Given the description of an element on the screen output the (x, y) to click on. 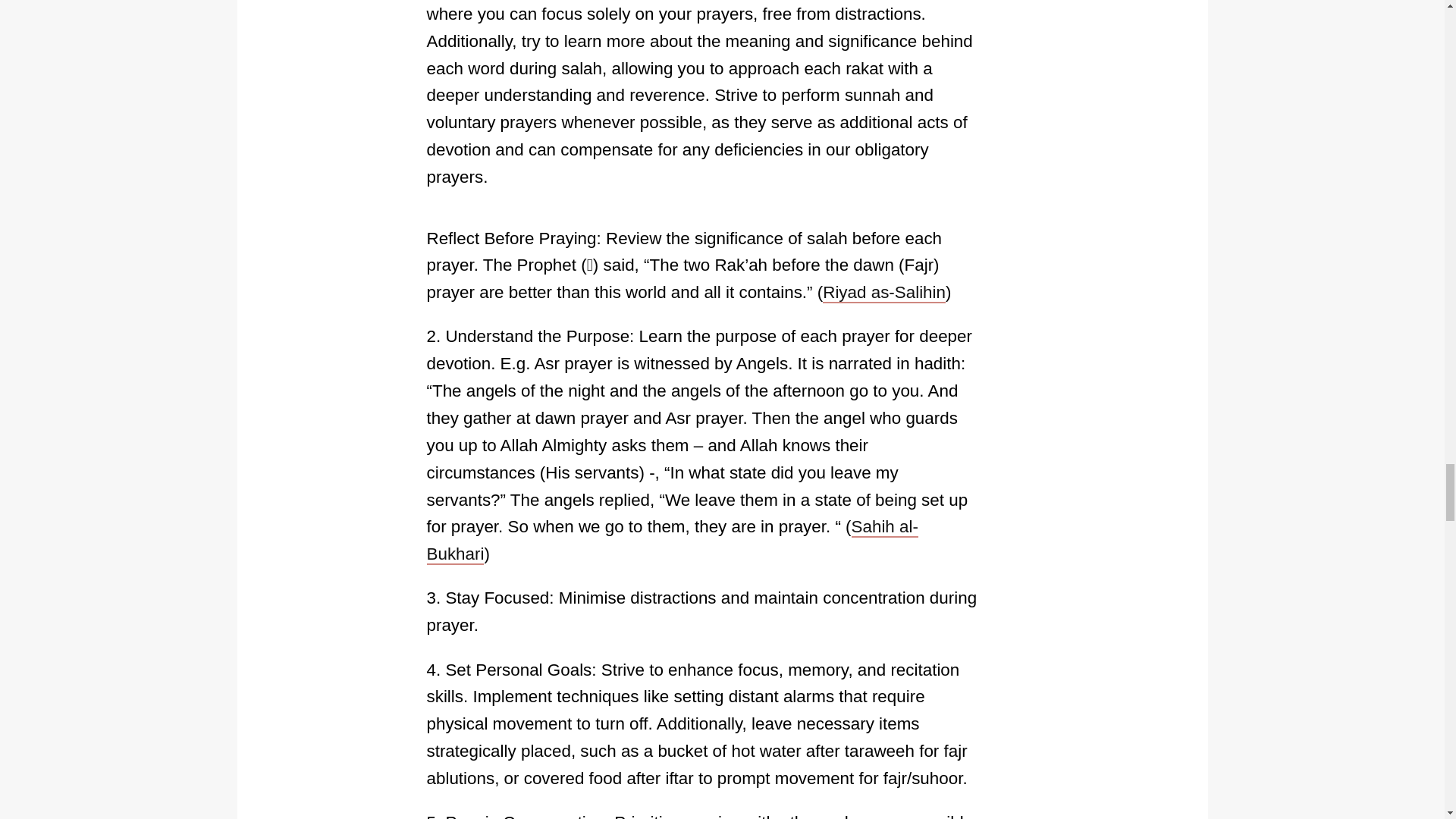
Sahih al-Bukhari (671, 540)
Riyad as-Salihin (883, 292)
